Given the description of an element on the screen output the (x, y) to click on. 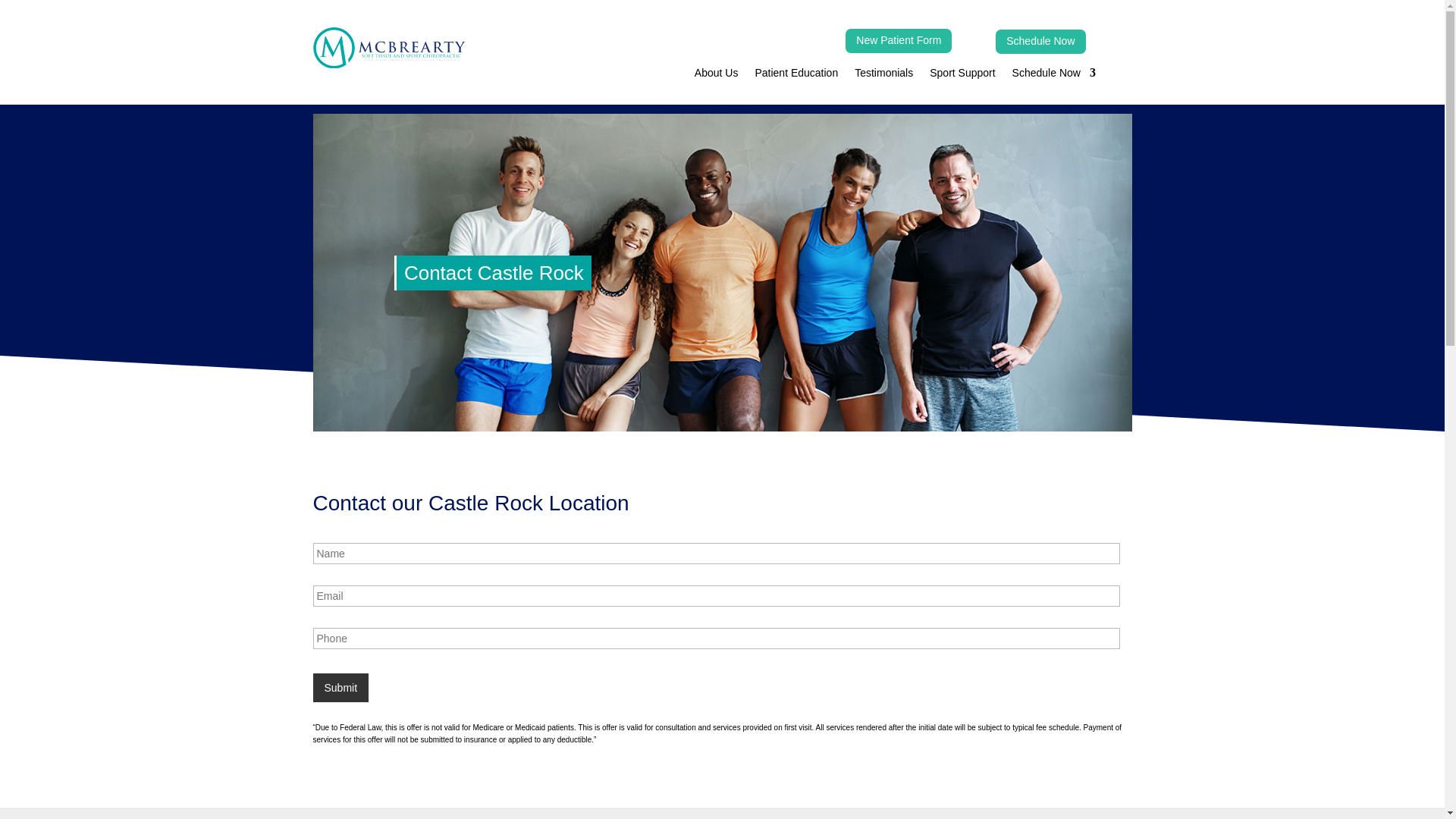
Schedule Now (1053, 75)
New Patient Form (898, 40)
Patient Education (796, 75)
Testimonials (883, 75)
About Us (716, 75)
Schedule Now (1040, 41)
Logo Website Version 1 McBrearty (388, 47)
Submit (340, 687)
Sport Support (962, 75)
Submit (340, 687)
